Given the description of an element on the screen output the (x, y) to click on. 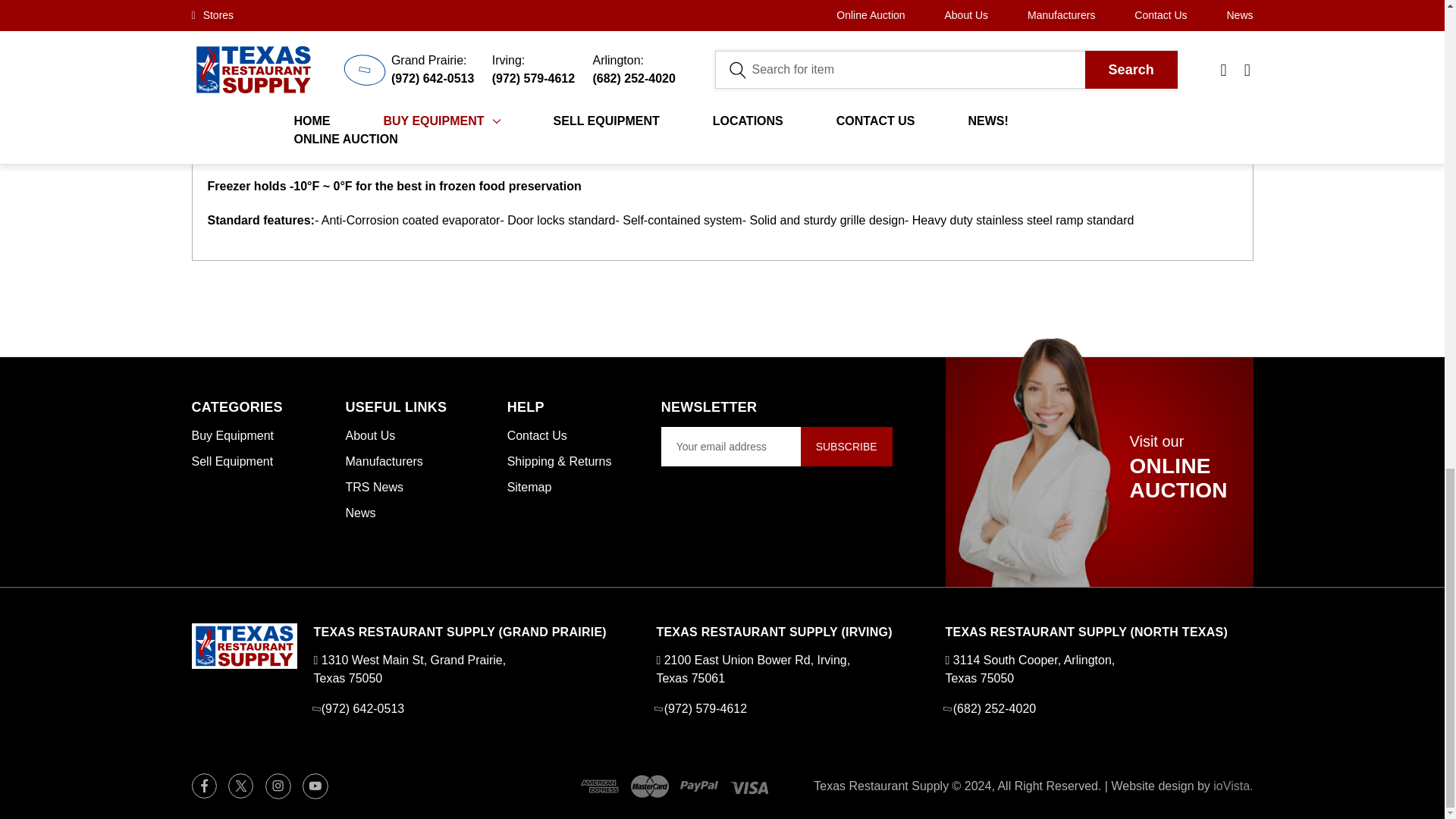
Subscribe (846, 446)
